Given the description of an element on the screen output the (x, y) to click on. 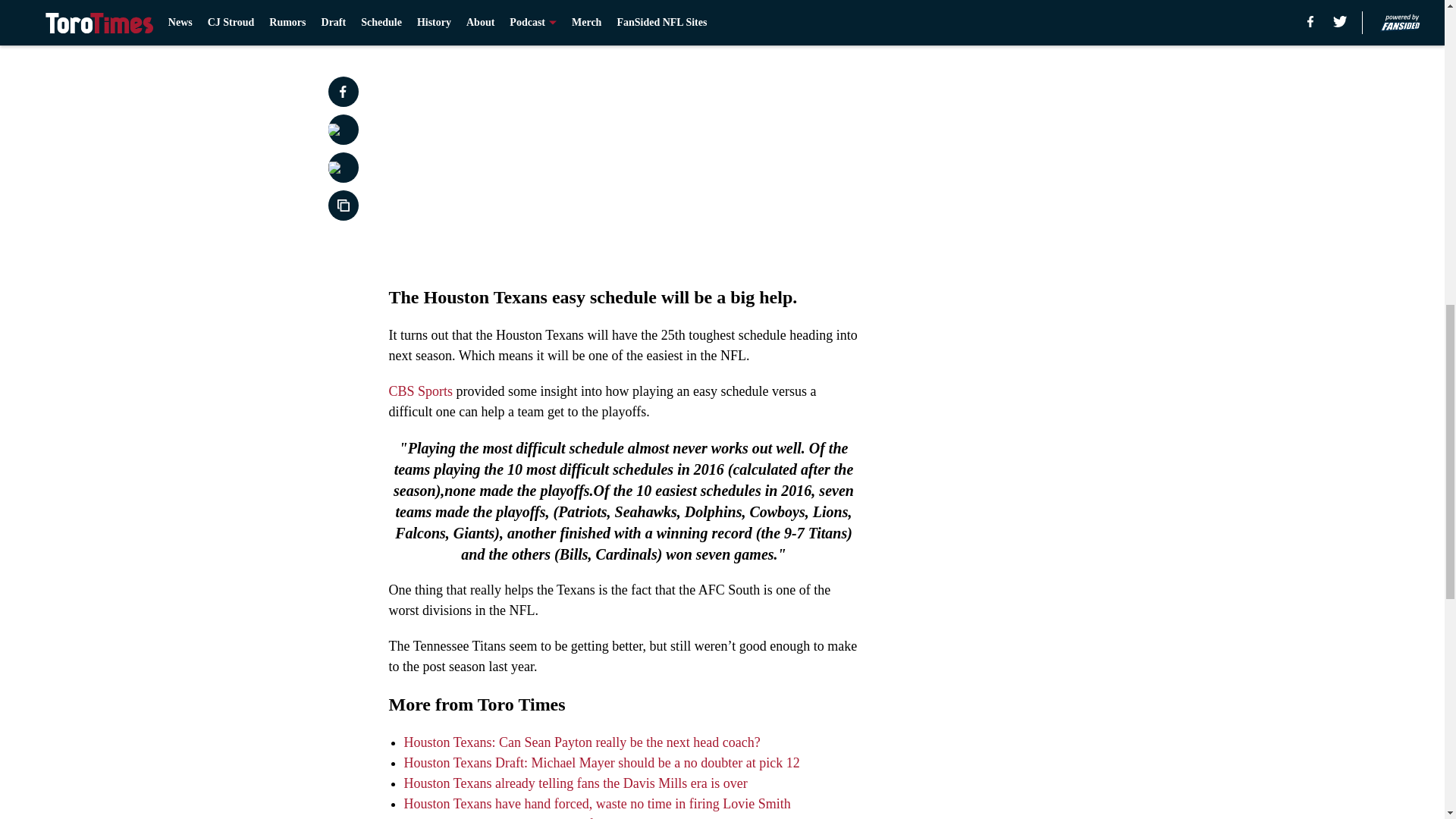
CBS Sports (420, 391)
